Given the description of an element on the screen output the (x, y) to click on. 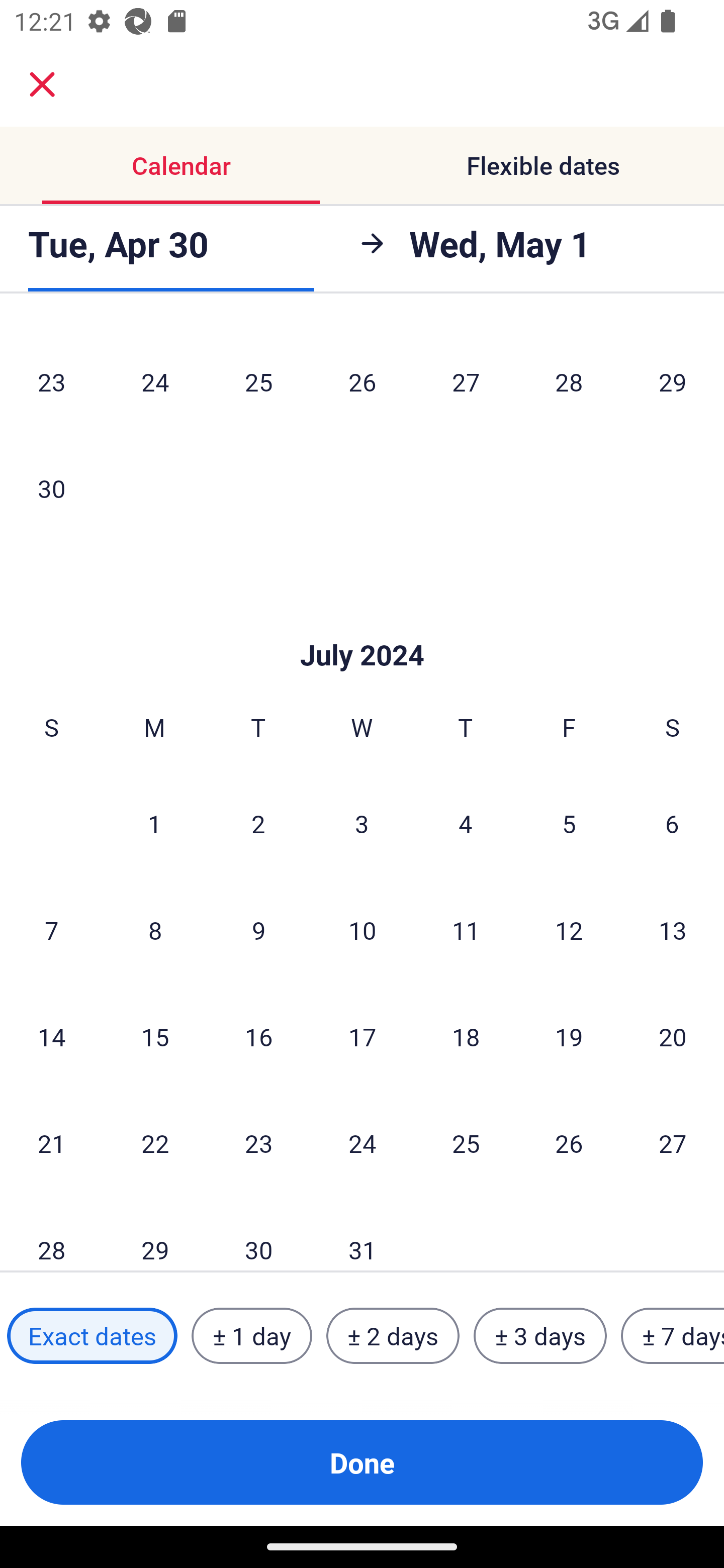
close. (42, 84)
Flexible dates (542, 164)
23 Sunday, June 23, 2024 (51, 381)
24 Monday, June 24, 2024 (155, 381)
25 Tuesday, June 25, 2024 (258, 381)
26 Wednesday, June 26, 2024 (362, 381)
27 Thursday, June 27, 2024 (465, 381)
28 Friday, June 28, 2024 (569, 381)
29 Saturday, June 29, 2024 (672, 381)
30 Sunday, June 30, 2024 (51, 488)
Skip to Done (362, 625)
1 Monday, July 1, 2024 (154, 822)
2 Tuesday, July 2, 2024 (257, 822)
3 Wednesday, July 3, 2024 (361, 822)
4 Thursday, July 4, 2024 (465, 822)
5 Friday, July 5, 2024 (568, 822)
6 Saturday, July 6, 2024 (672, 822)
7 Sunday, July 7, 2024 (51, 929)
8 Monday, July 8, 2024 (155, 929)
9 Tuesday, July 9, 2024 (258, 929)
10 Wednesday, July 10, 2024 (362, 929)
11 Thursday, July 11, 2024 (465, 929)
12 Friday, July 12, 2024 (569, 929)
13 Saturday, July 13, 2024 (672, 929)
14 Sunday, July 14, 2024 (51, 1036)
15 Monday, July 15, 2024 (155, 1036)
16 Tuesday, July 16, 2024 (258, 1036)
17 Wednesday, July 17, 2024 (362, 1036)
18 Thursday, July 18, 2024 (465, 1036)
19 Friday, July 19, 2024 (569, 1036)
20 Saturday, July 20, 2024 (672, 1036)
21 Sunday, July 21, 2024 (51, 1142)
22 Monday, July 22, 2024 (155, 1142)
23 Tuesday, July 23, 2024 (258, 1142)
24 Wednesday, July 24, 2024 (362, 1142)
25 Thursday, July 25, 2024 (465, 1142)
26 Friday, July 26, 2024 (569, 1142)
27 Saturday, July 27, 2024 (672, 1142)
28 Sunday, July 28, 2024 (51, 1233)
29 Monday, July 29, 2024 (155, 1233)
30 Tuesday, July 30, 2024 (258, 1233)
31 Wednesday, July 31, 2024 (362, 1233)
Exact dates (92, 1335)
± 1 day (251, 1335)
± 2 days (392, 1335)
± 3 days (539, 1335)
± 7 days (672, 1335)
Done (361, 1462)
